Given the description of an element on the screen output the (x, y) to click on. 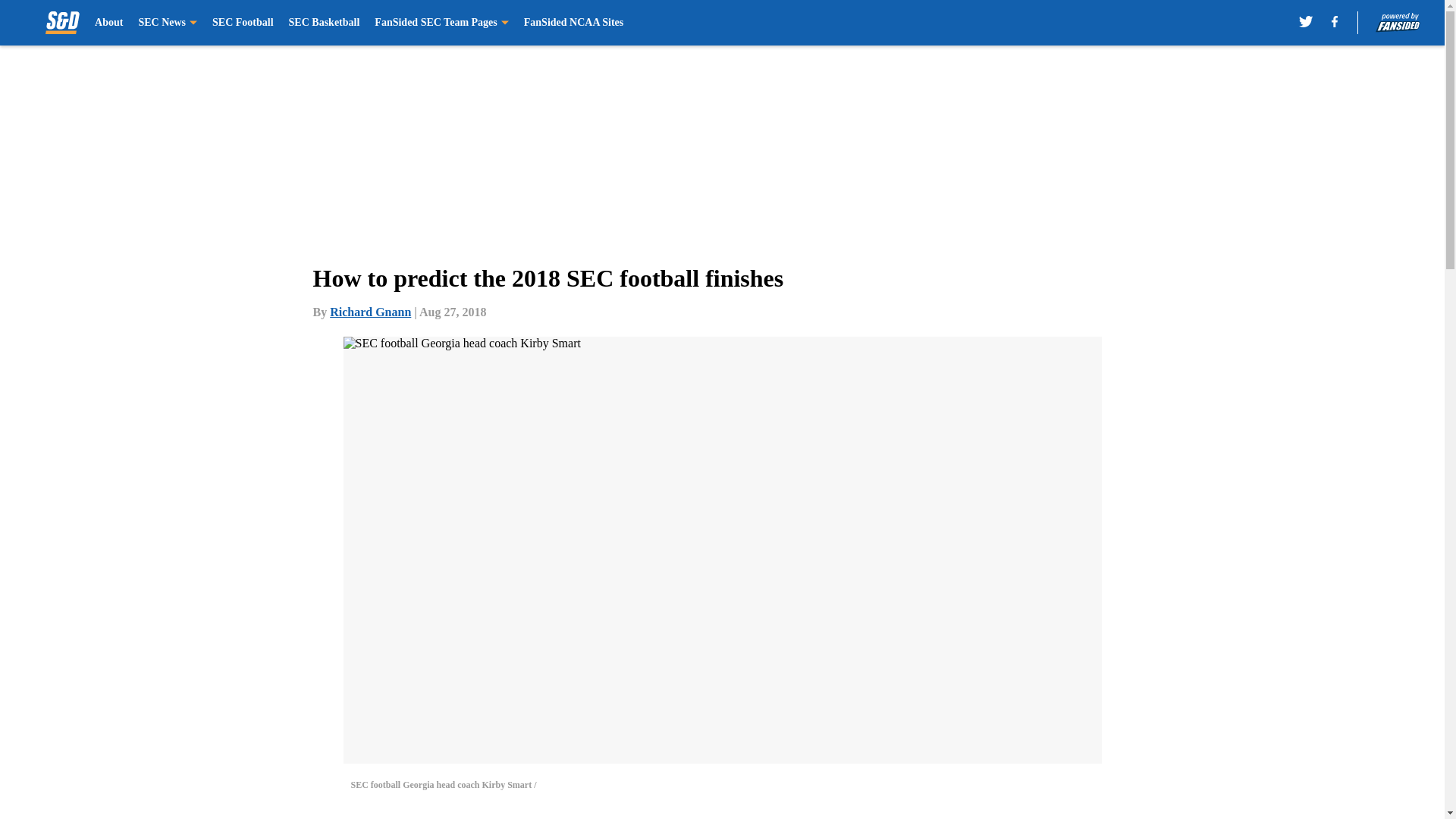
About (108, 22)
SEC Basketball (323, 22)
FanSided NCAA Sites (573, 22)
Richard Gnann (370, 311)
SEC Football (242, 22)
